Given the description of an element on the screen output the (x, y) to click on. 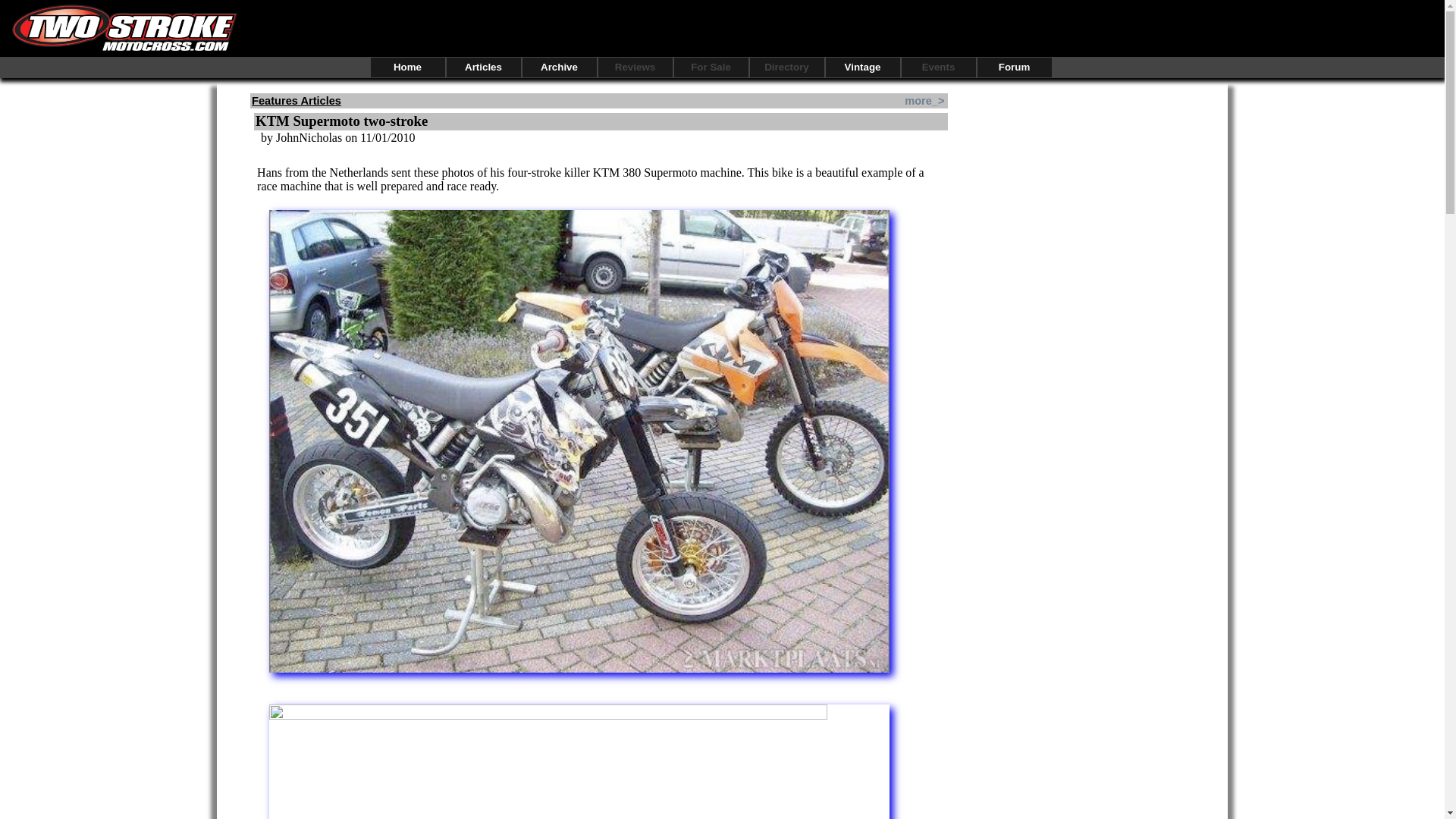
Archive (558, 66)
Reviews (633, 66)
For Sale (710, 66)
Articles (482, 66)
Home (406, 66)
Directory (786, 66)
Supermoto -EXC - 1 (579, 761)
Vintage (862, 66)
Forum (1013, 66)
Events (938, 66)
